Given the description of an element on the screen output the (x, y) to click on. 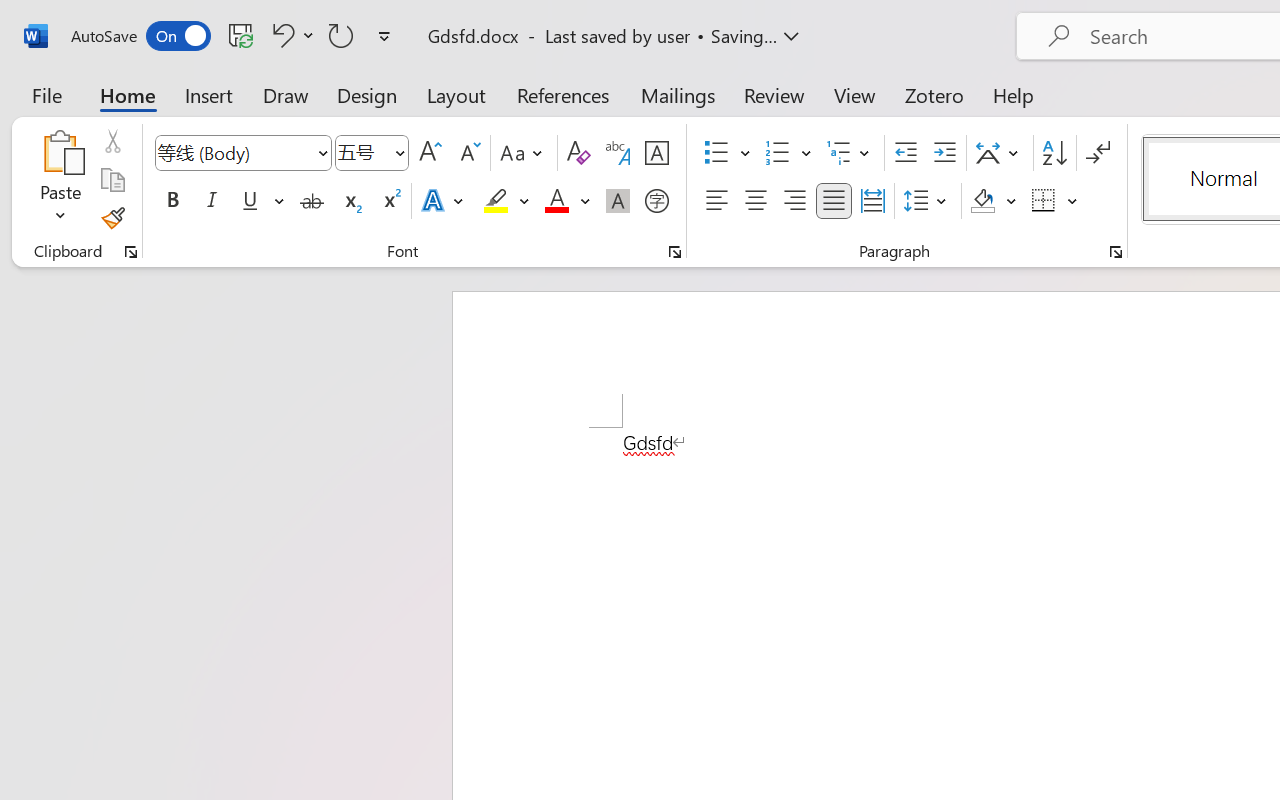
Repeat Clear Formatting (341, 35)
